Given the description of an element on the screen output the (x, y) to click on. 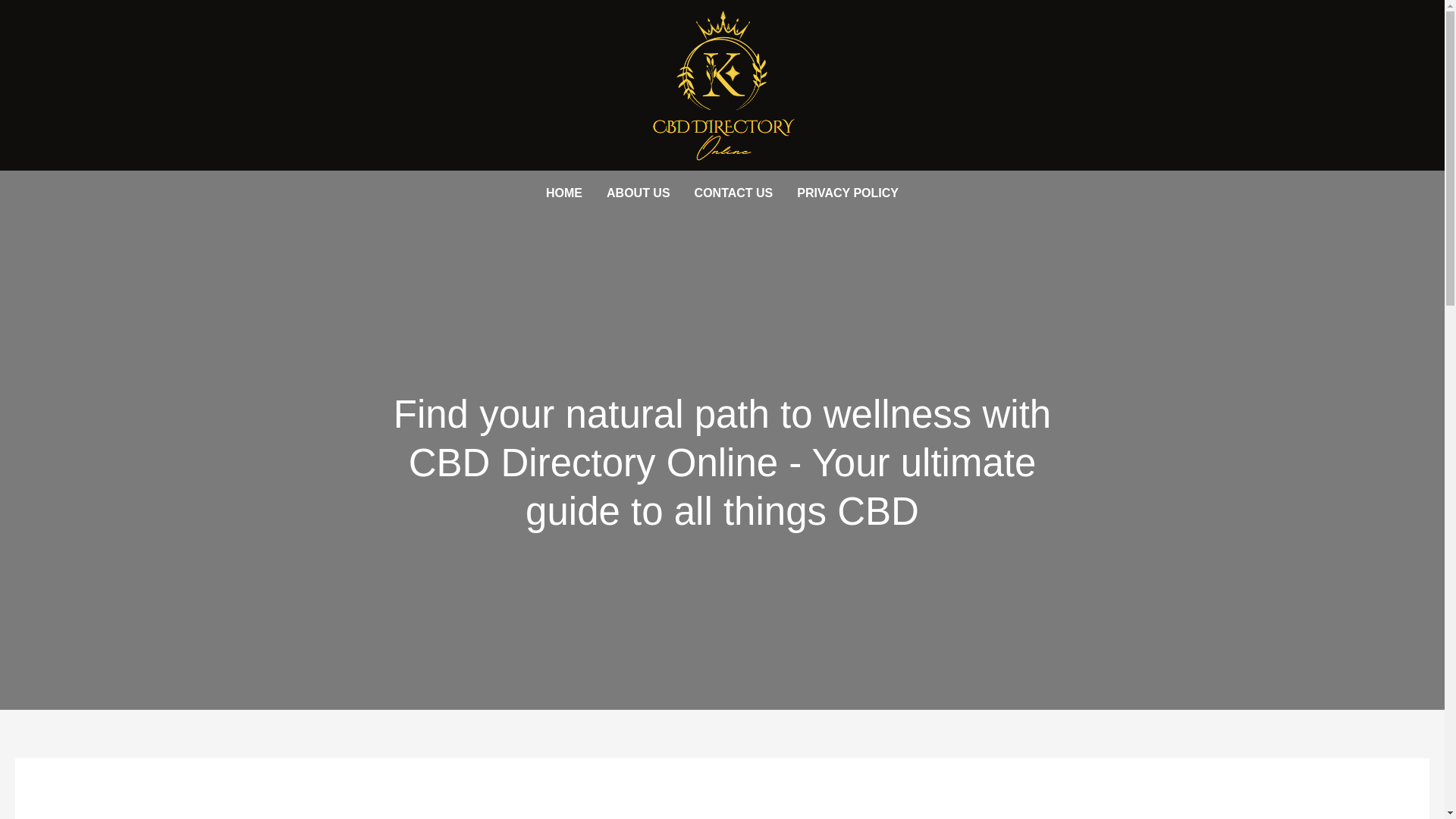
HOME (564, 193)
PRIVACY POLICY (847, 193)
CONTACT US (734, 193)
ABOUT US (638, 193)
